Given the description of an element on the screen output the (x, y) to click on. 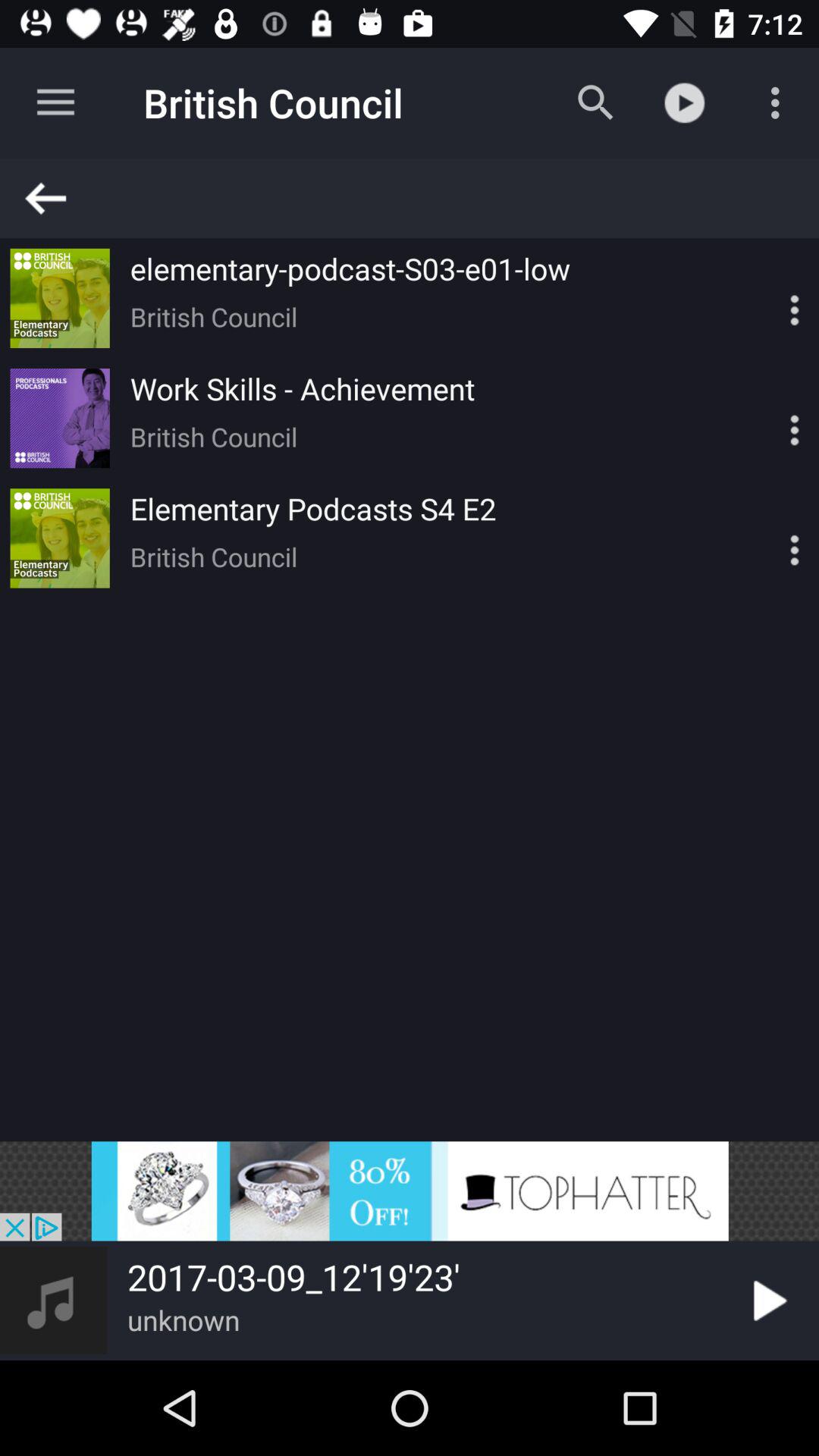
open info (768, 418)
